Given the description of an element on the screen output the (x, y) to click on. 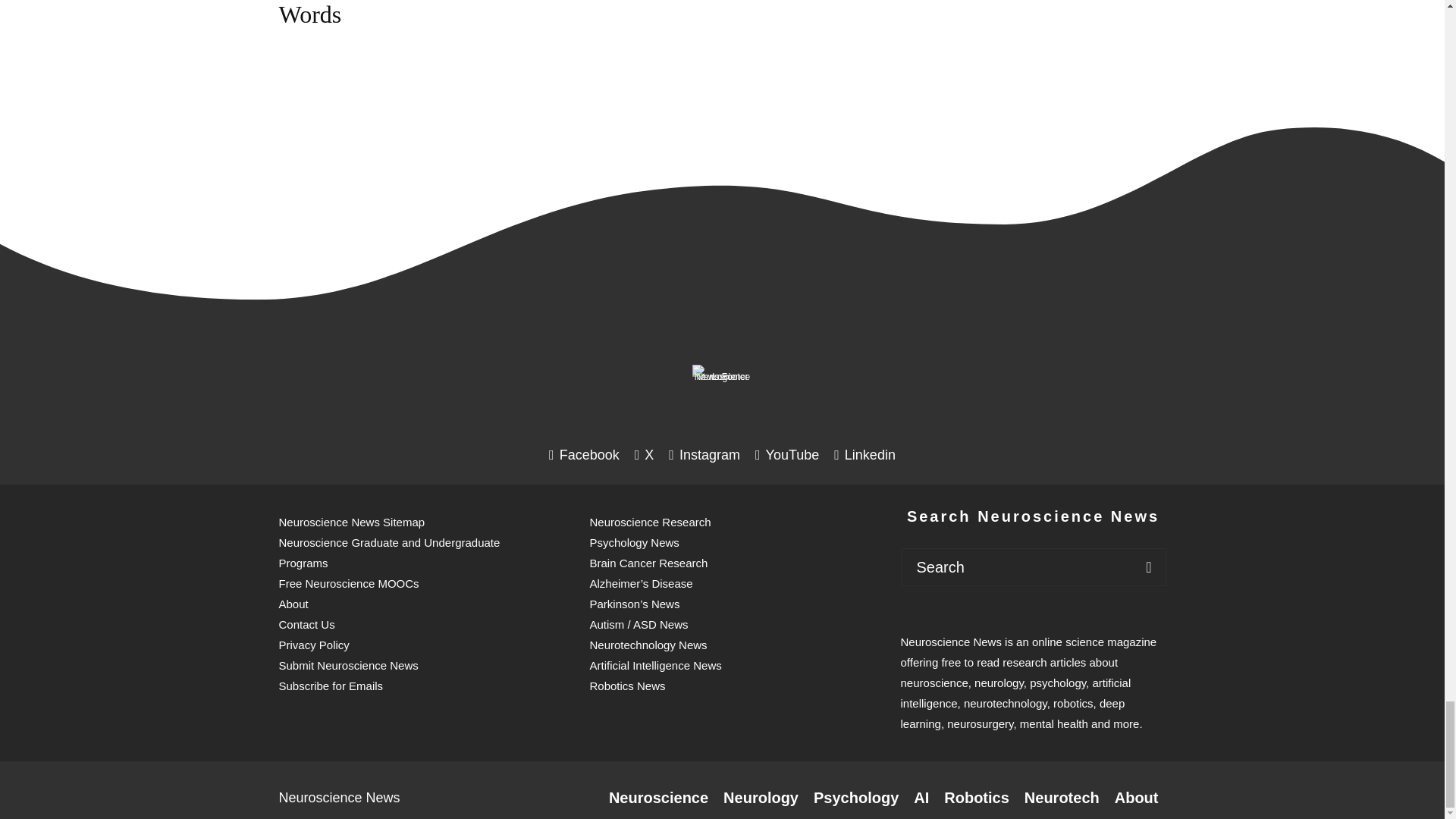
Psychology Research Articles (855, 797)
Neuroscience Research (657, 797)
Neurology Research Articles (760, 797)
